Given the description of an element on the screen output the (x, y) to click on. 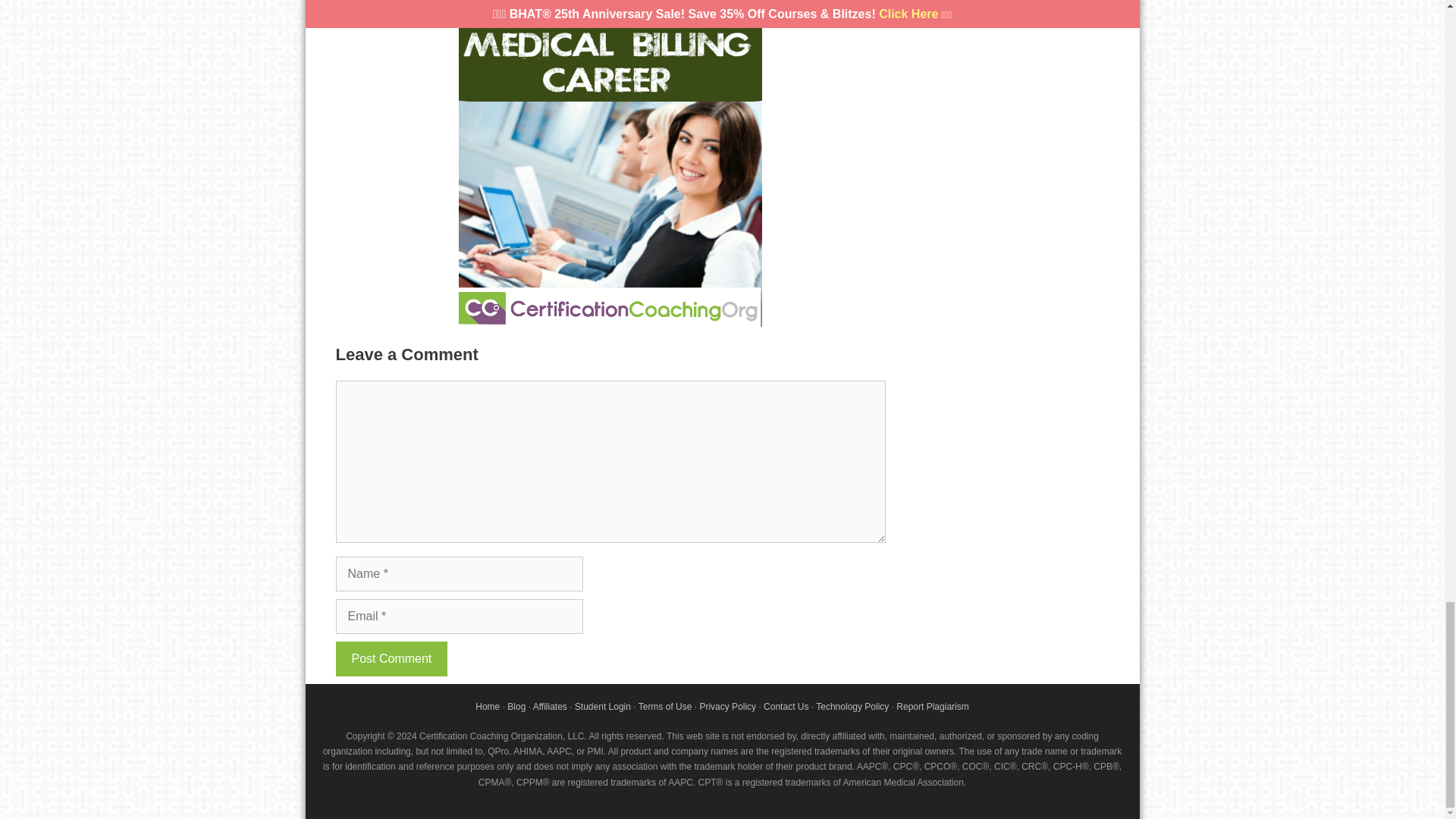
Post Comment (390, 658)
